Given the description of an element on the screen output the (x, y) to click on. 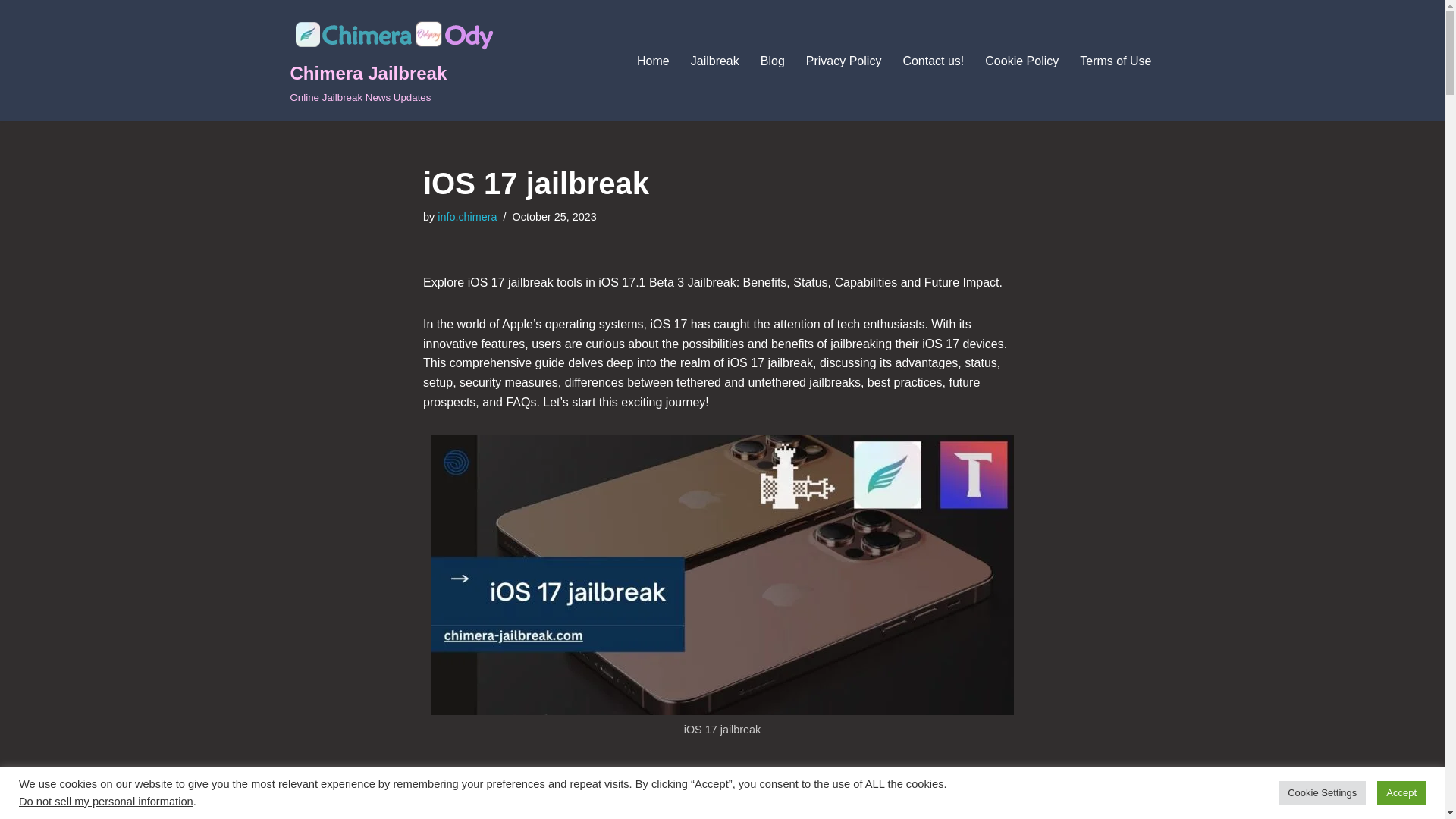
Home (392, 60)
Skip to content (653, 60)
info.chimera (11, 31)
Contact us! (467, 216)
Jailbreak (932, 60)
Latest Update: (714, 60)
Privacy Policy (496, 783)
Terms of Use (844, 60)
Posts by info.chimera (1115, 60)
